Given the description of an element on the screen output the (x, y) to click on. 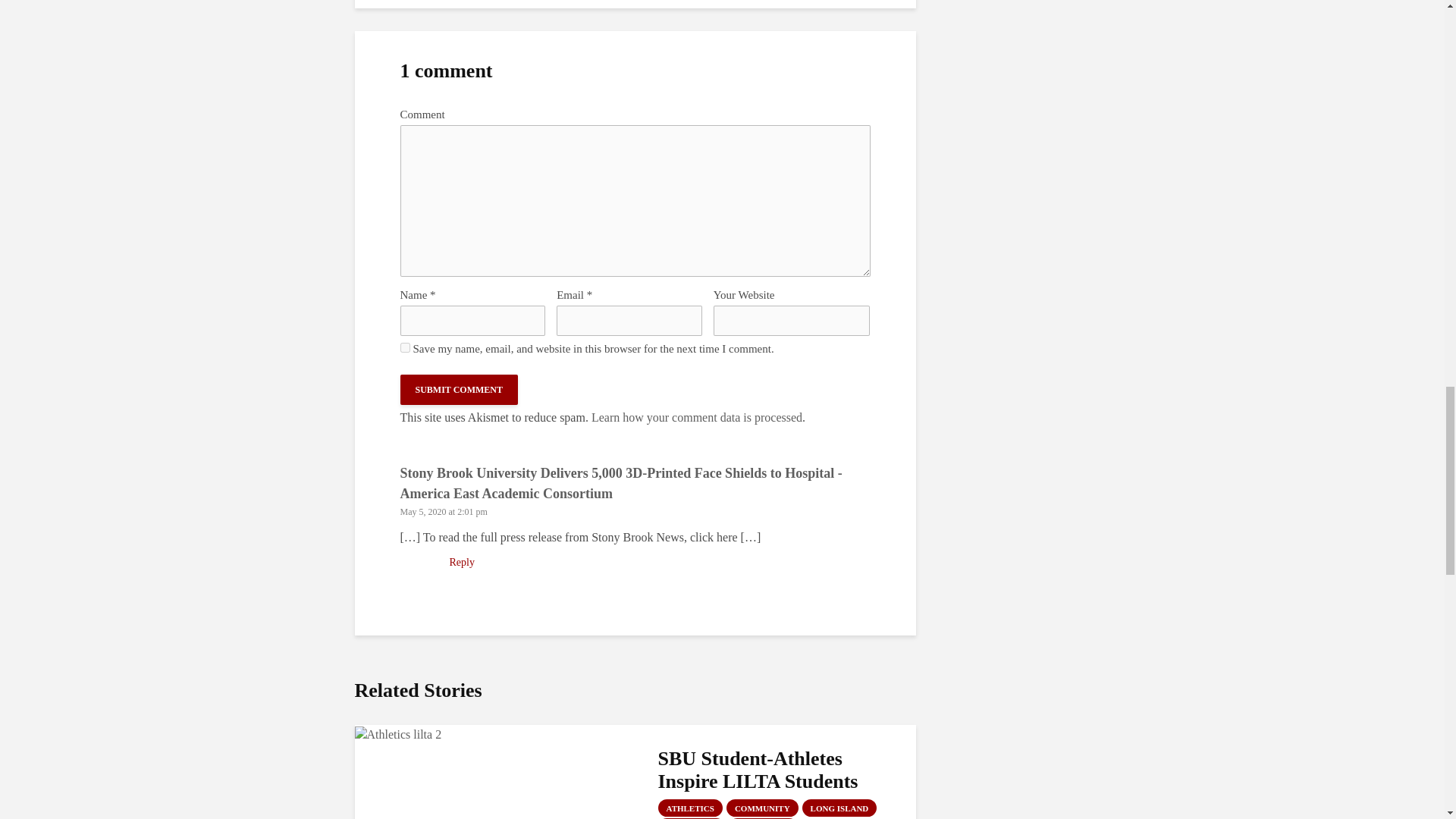
SBU Student-Athletes Inspire LILTA Students (398, 732)
Submit Comment (459, 389)
yes (405, 347)
